Given the description of an element on the screen output the (x, y) to click on. 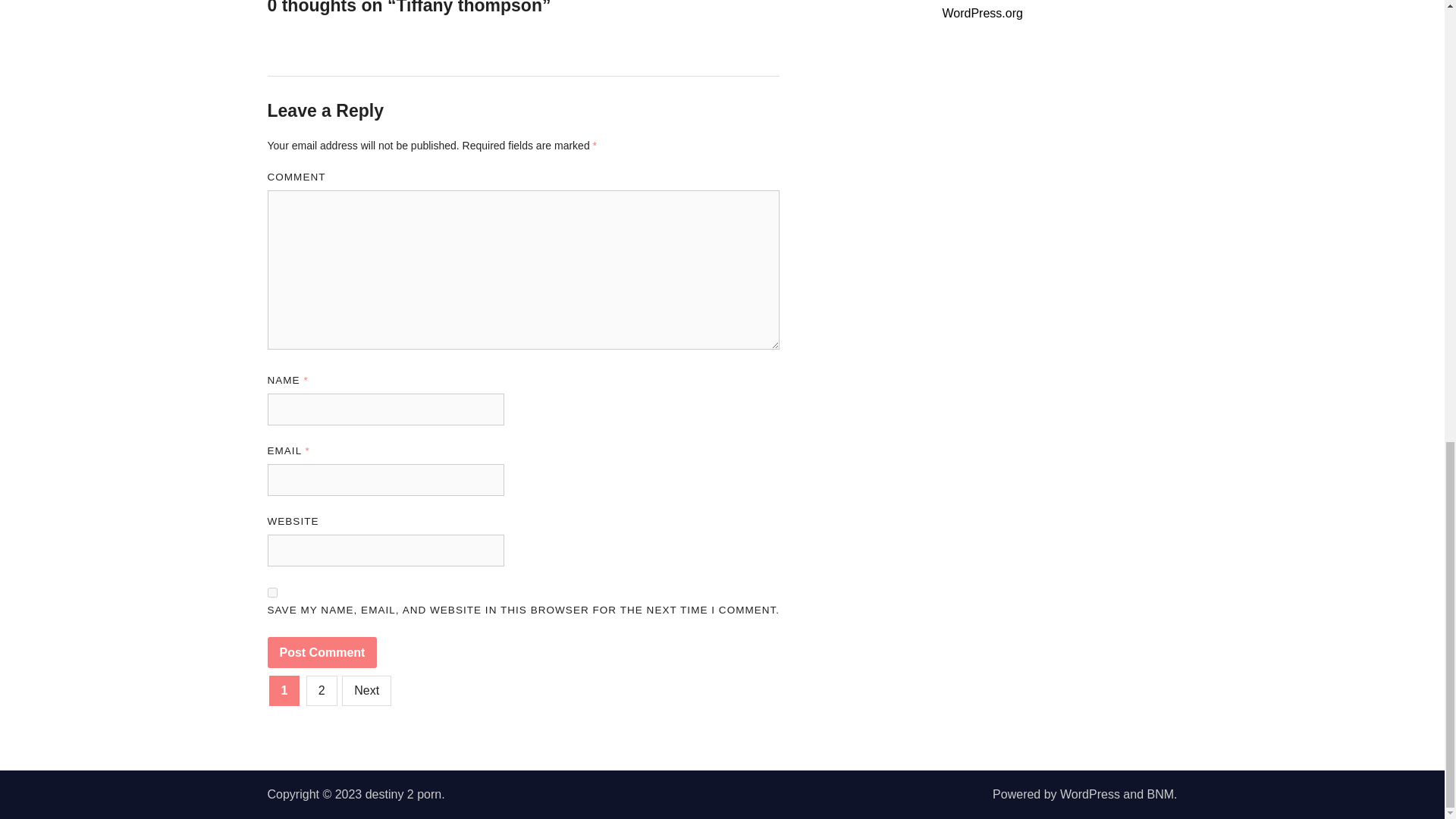
destiny 2 porn (403, 793)
Next (366, 690)
Post Comment (321, 653)
Post Comment (321, 653)
WordPress (1089, 793)
yes (271, 592)
destiny 2 porn (403, 793)
BNM (1160, 793)
2 (321, 690)
WordPress.org (982, 12)
